Given the description of an element on the screen output the (x, y) to click on. 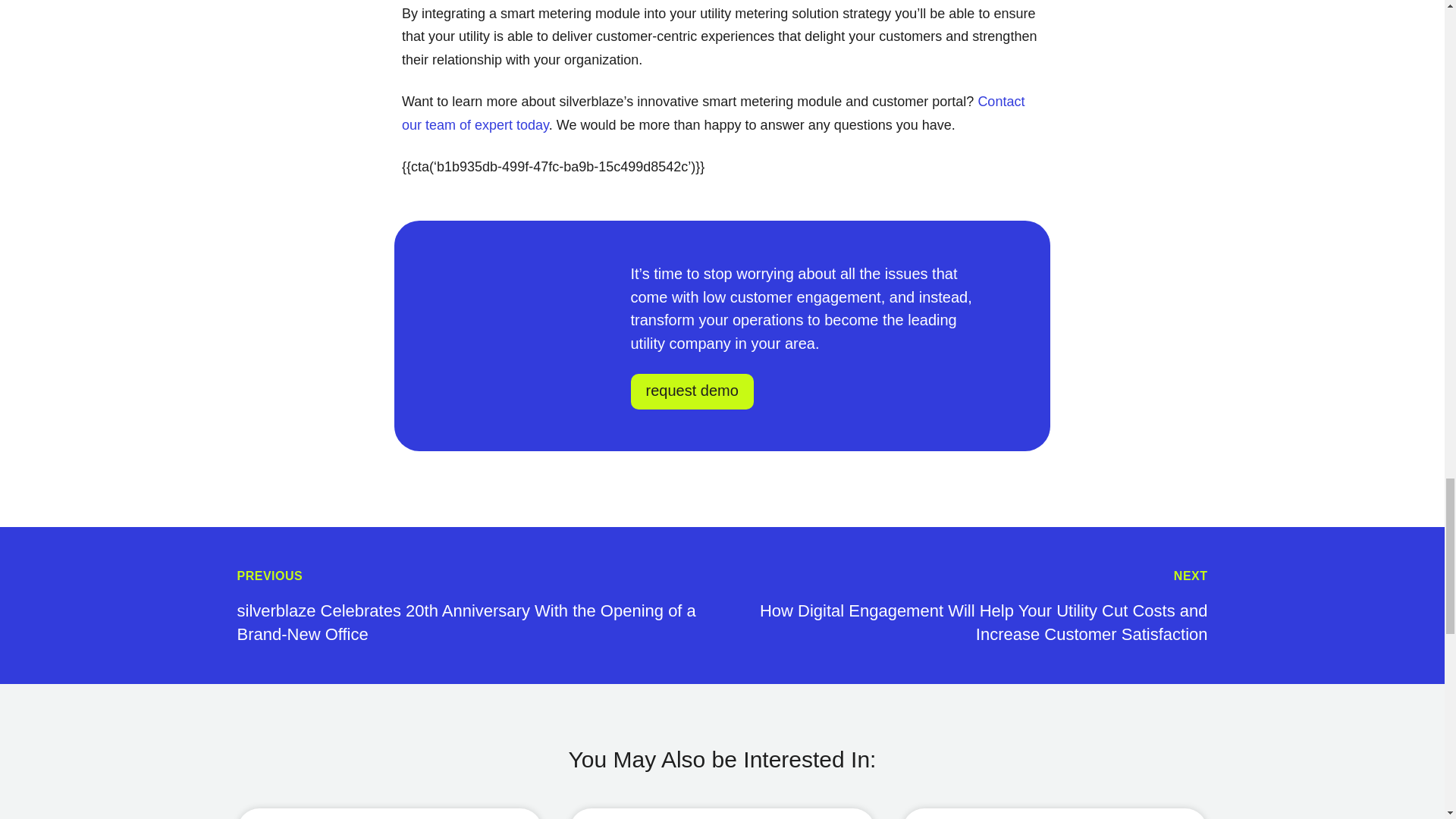
Contact our team of expert today (713, 113)
request demo (692, 391)
